Given the description of an element on the screen output the (x, y) to click on. 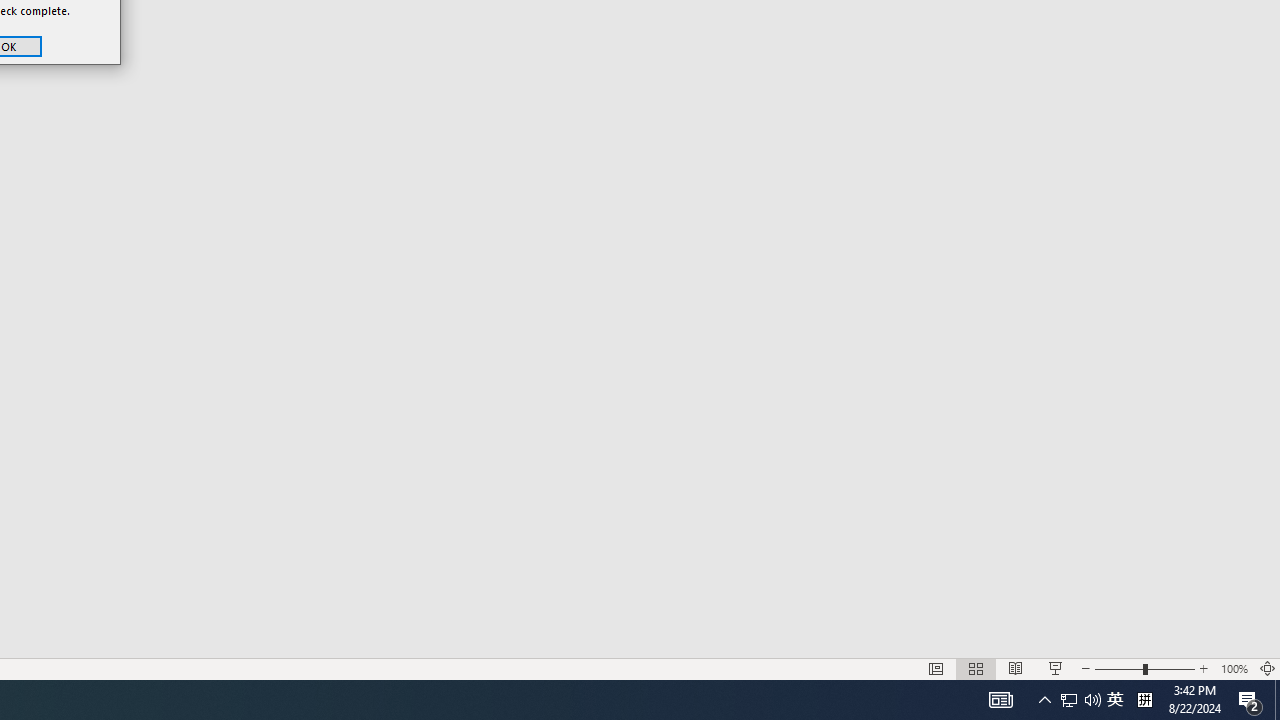
Zoom 100% (1234, 668)
